Given the description of an element on the screen output the (x, y) to click on. 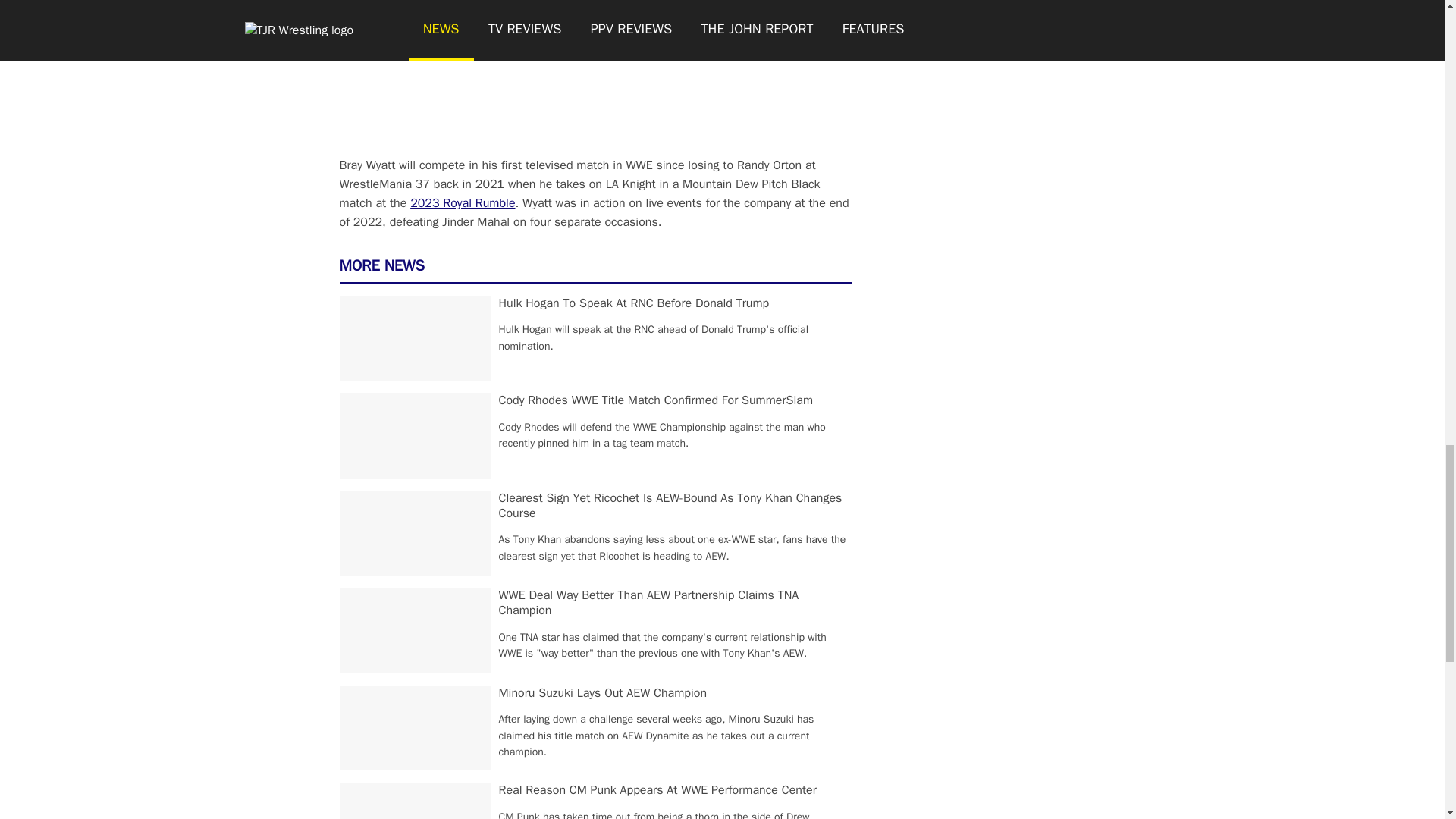
Cody Rhodes WWE Title Match Confirmed For SummerSlam (655, 400)
Hulk Hogan To Speak At RNC Before Donald Trump (634, 303)
2023 Royal Rumble (462, 202)
